Given the description of an element on the screen output the (x, y) to click on. 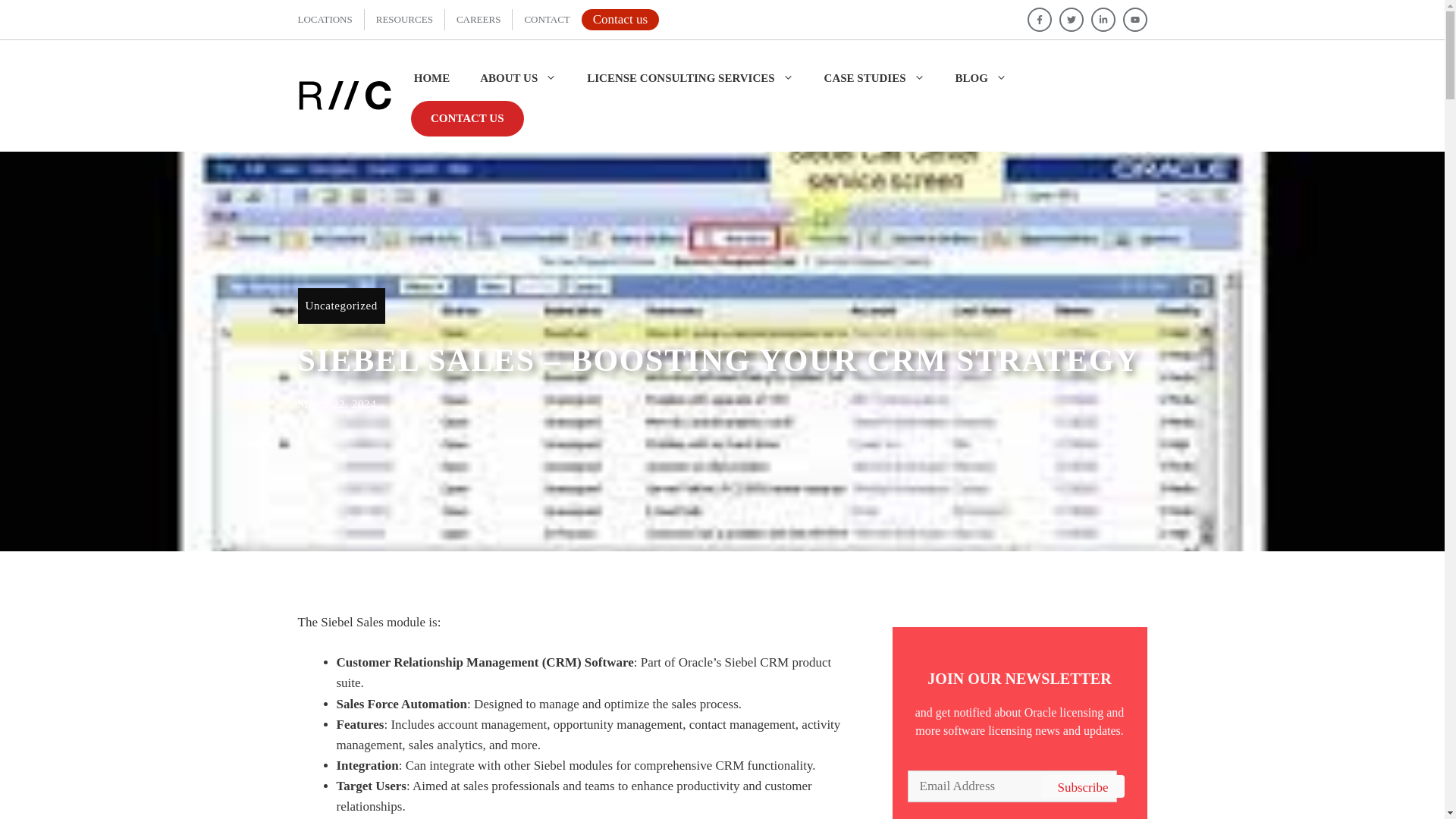
LICENSE CONSULTING SERVICES (690, 77)
Location (324, 19)
CAREERS (478, 19)
Contact (546, 19)
Careers (478, 19)
RESOURCES (403, 19)
 HOME (430, 77)
ABOUT US (518, 77)
Resources (403, 19)
Subscribe (1082, 785)
